Given the description of an element on the screen output the (x, y) to click on. 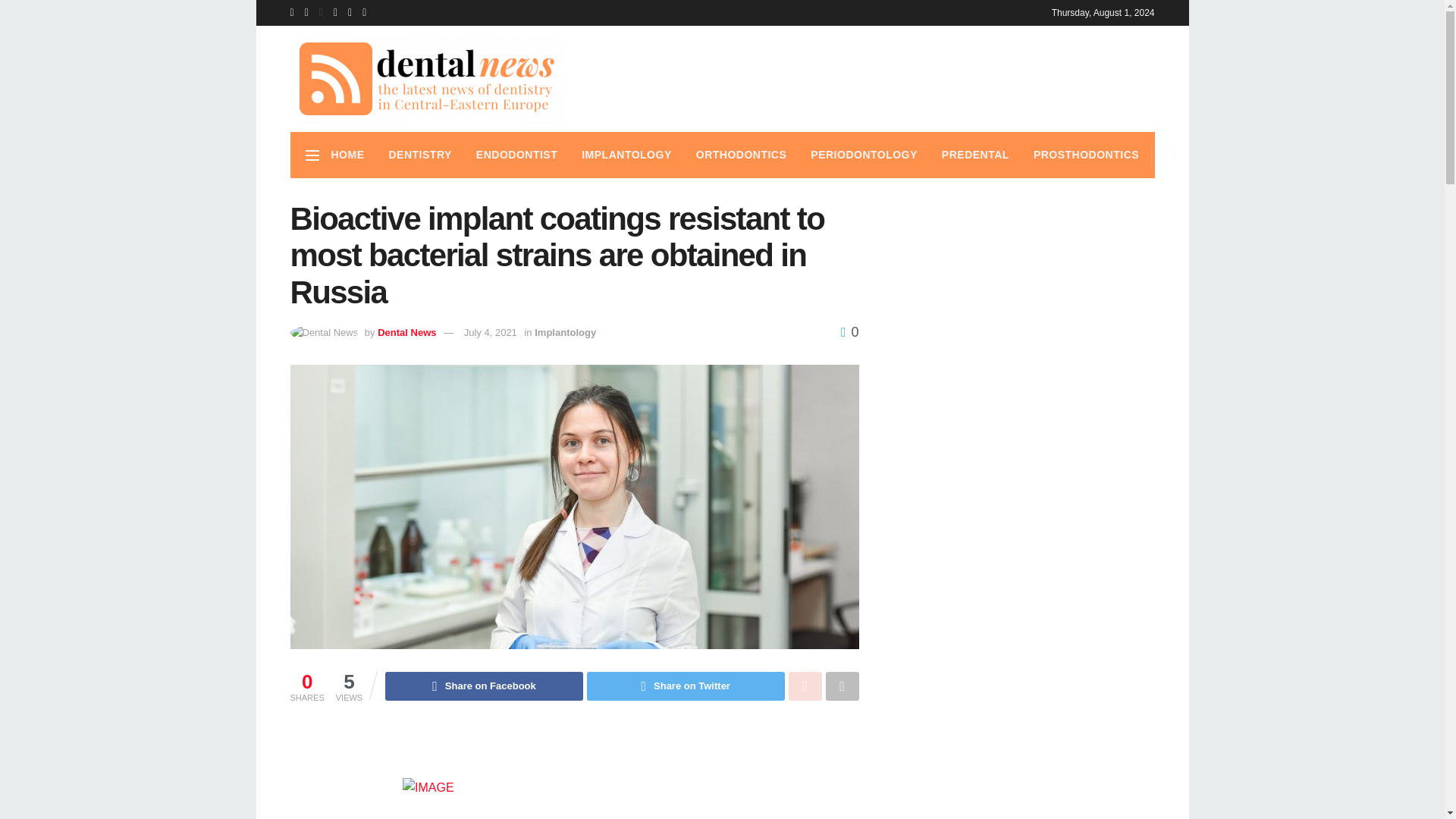
PROSTHODONTICS (1086, 154)
July 4, 2021 (490, 331)
DENTISTRY (419, 154)
Dental News (406, 331)
HOME (346, 154)
PREDENTAL (976, 154)
Implantology (564, 331)
ORTHODONTICS (741, 154)
ENDODONTIST (516, 154)
PERIODONTOLOGY (863, 154)
IMPLANTOLOGY (626, 154)
